Given the description of an element on the screen output the (x, y) to click on. 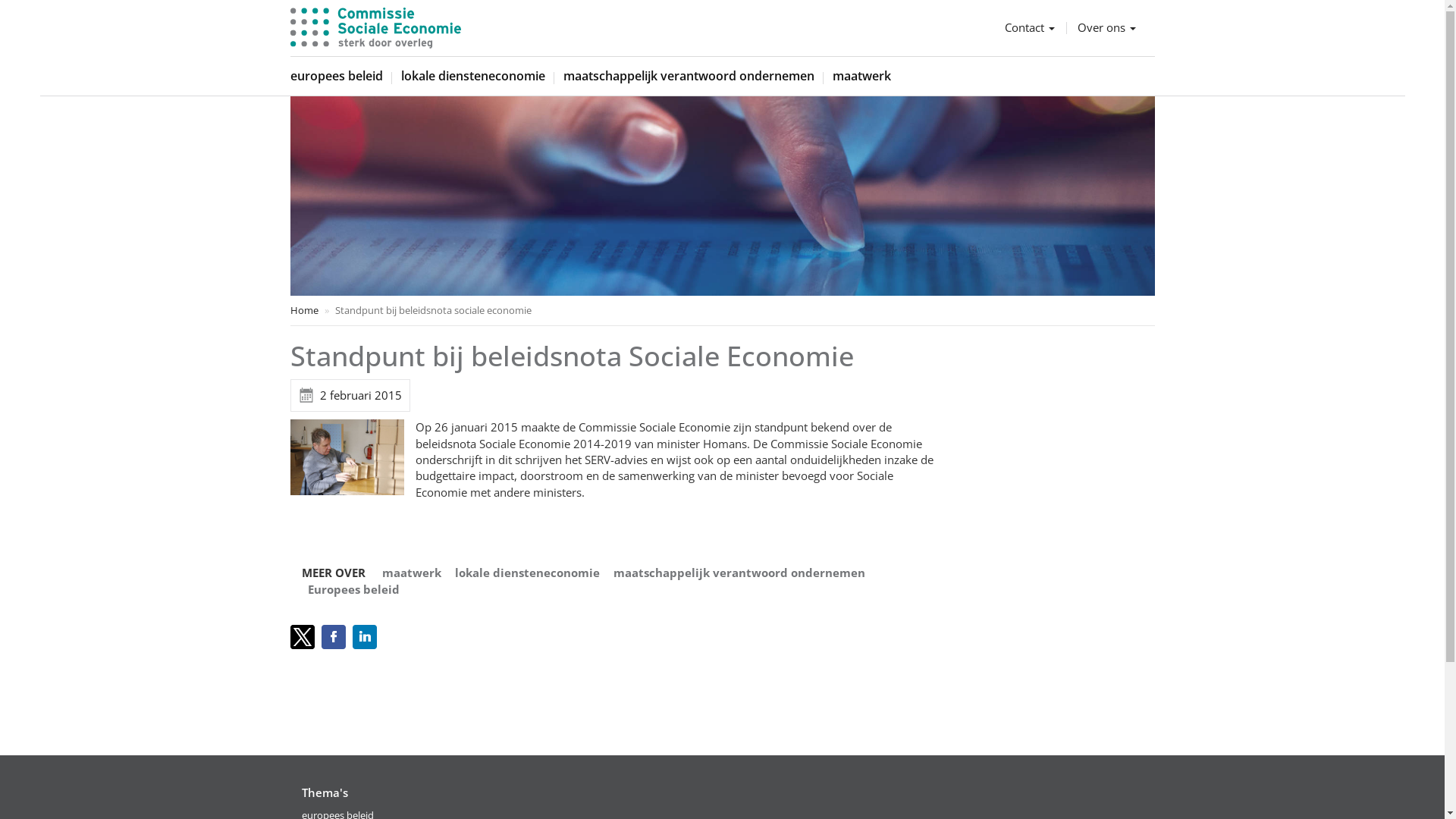
Over ons Element type: text (1105, 27)
Twitter Element type: text (303, 636)
Contact Element type: text (1028, 27)
lokale diensteneconomie Element type: text (472, 75)
Home Element type: text (303, 309)
Facebook Element type: text (335, 636)
europees beleid Element type: text (335, 75)
thema lokale diensteneconomie Element type: text (527, 572)
thema Europees beleid Element type: text (353, 588)
Overslaan en naar de inhoud gaan Element type: text (0, 7)
maatschappelijk verantwoord ondernemen Element type: text (687, 75)
socialeeconomie Element type: text (374, 27)
thema maatschappelijk verantwoord ondernemen Element type: text (738, 572)
maatwerk Element type: text (861, 75)
LinkedIn Element type: text (365, 636)
thema maatwerk Element type: text (411, 572)
